Given the description of an element on the screen output the (x, y) to click on. 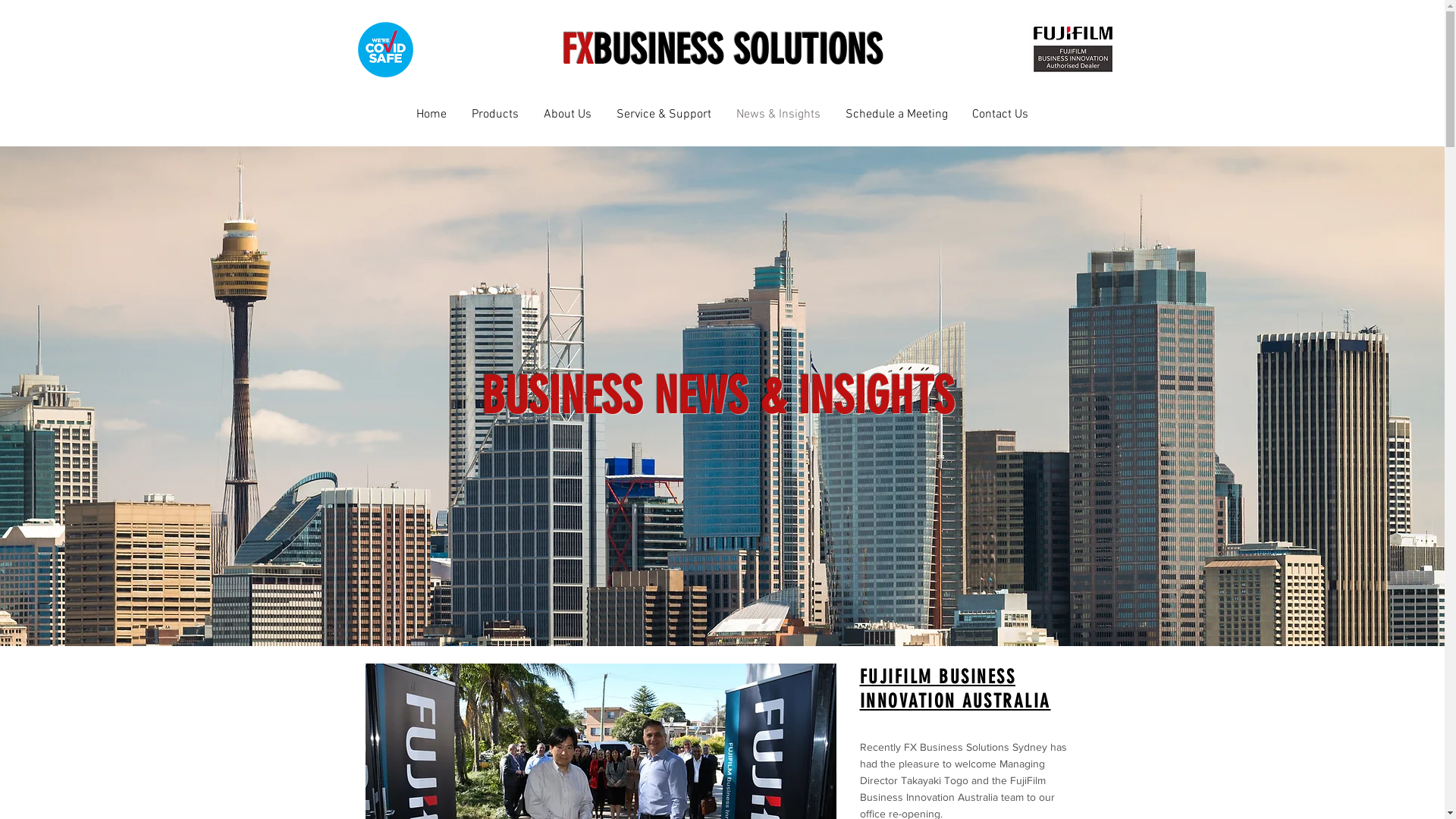
Products Element type: text (495, 114)
Contact Us Element type: text (1000, 114)
FXBUSINESS SOLUTIONS Element type: text (721, 49)
Schedule a Meeting Element type: text (895, 114)
FUJIFILM BUSINESS INNOVATION AUSTRALIA Element type: text (955, 690)
Home Element type: text (430, 114)
News & Insights Element type: text (777, 114)
